Given the description of an element on the screen output the (x, y) to click on. 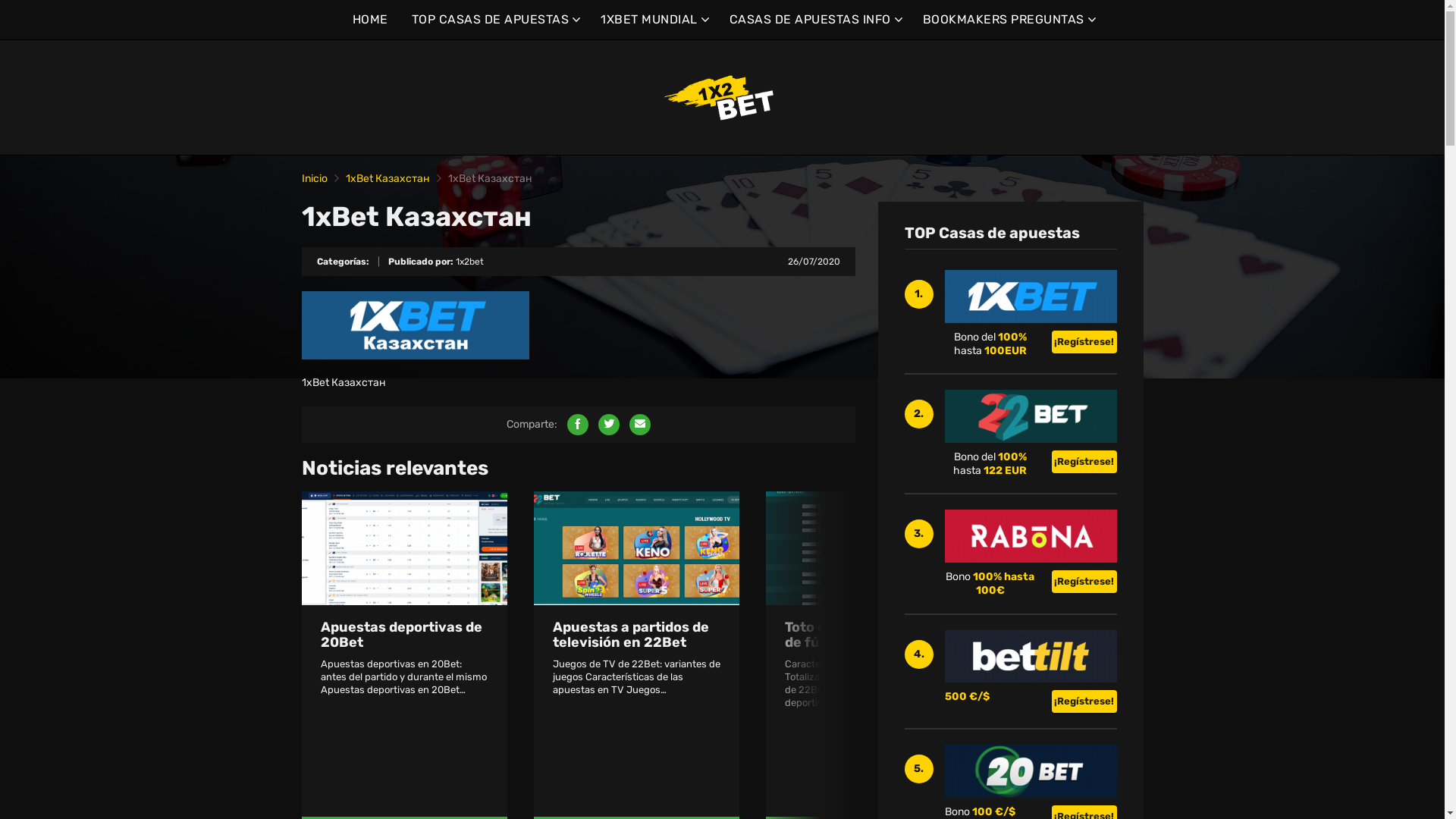
Share by email Element type: hover (639, 424)
Inicio Element type: text (314, 178)
HOME Element type: text (369, 19)
BOOKMAKERS PREGUNTAS Element type: text (1007, 19)
CASAS DE APUESTAS INFO Element type: text (814, 19)
Share on Facebook Element type: hover (577, 424)
TOP CASAS DE APUESTAS Element type: text (494, 19)
1XBET MUNDIAL Element type: text (653, 19)
Share on Twitter Element type: hover (607, 424)
